Given the description of an element on the screen output the (x, y) to click on. 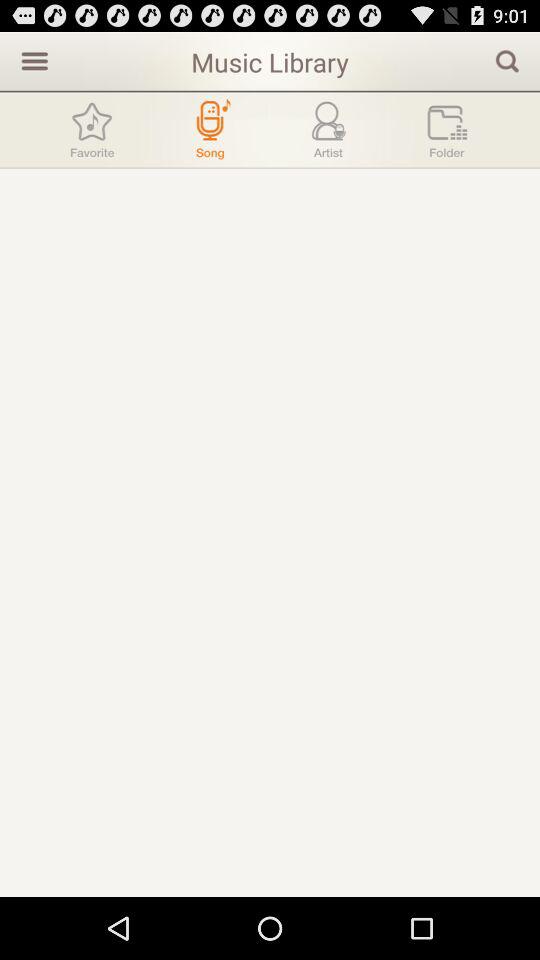
see a list of songs (210, 129)
